Given the description of an element on the screen output the (x, y) to click on. 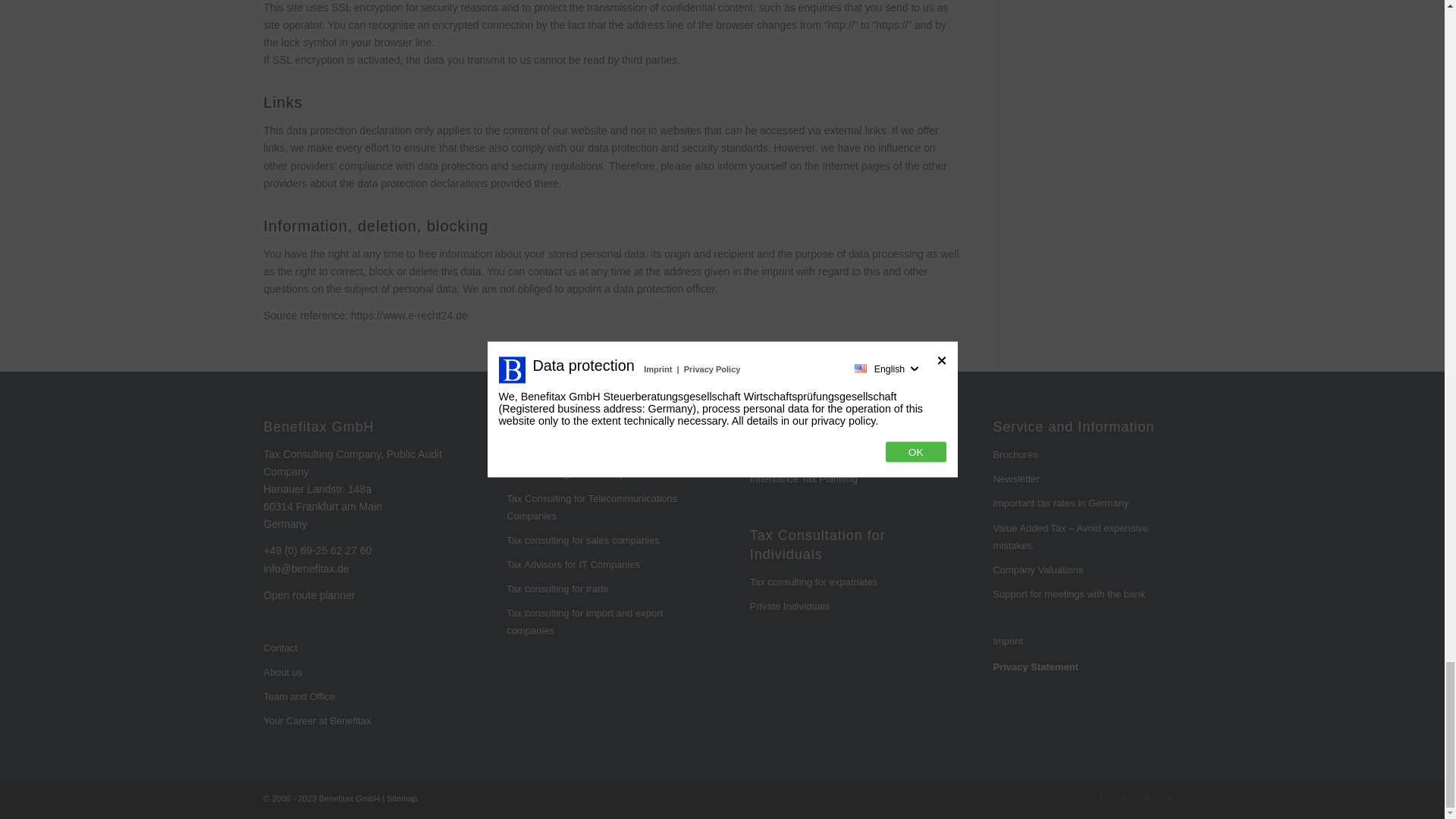
LinkedIn (1146, 797)
Instagram (1101, 797)
Youtube (1169, 797)
Facebook (1124, 797)
